Given the description of an element on the screen output the (x, y) to click on. 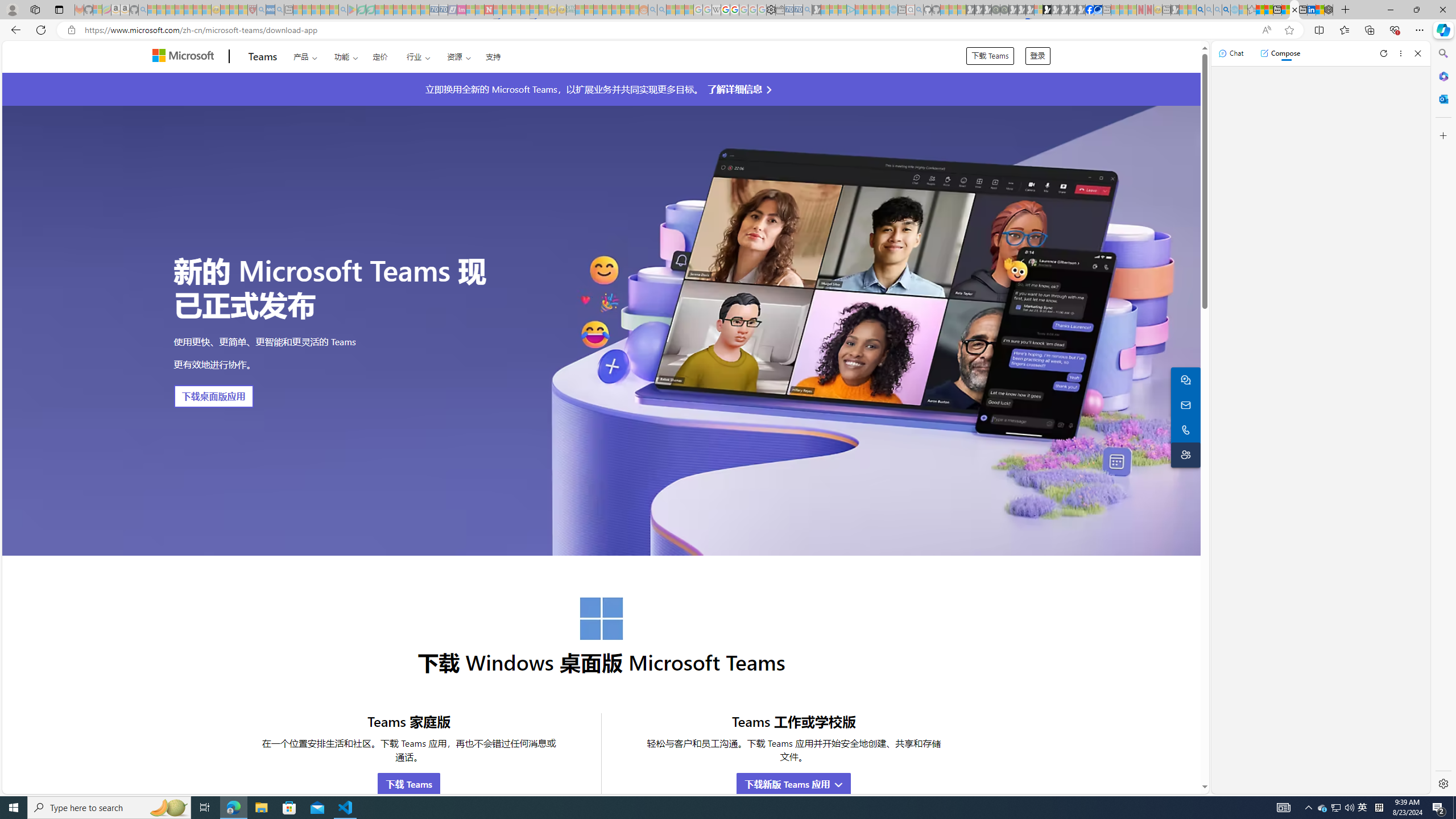
Chat (1230, 52)
Aberdeen, Hong Kong SAR weather forecast | Microsoft Weather (1268, 9)
